Given the description of an element on the screen output the (x, y) to click on. 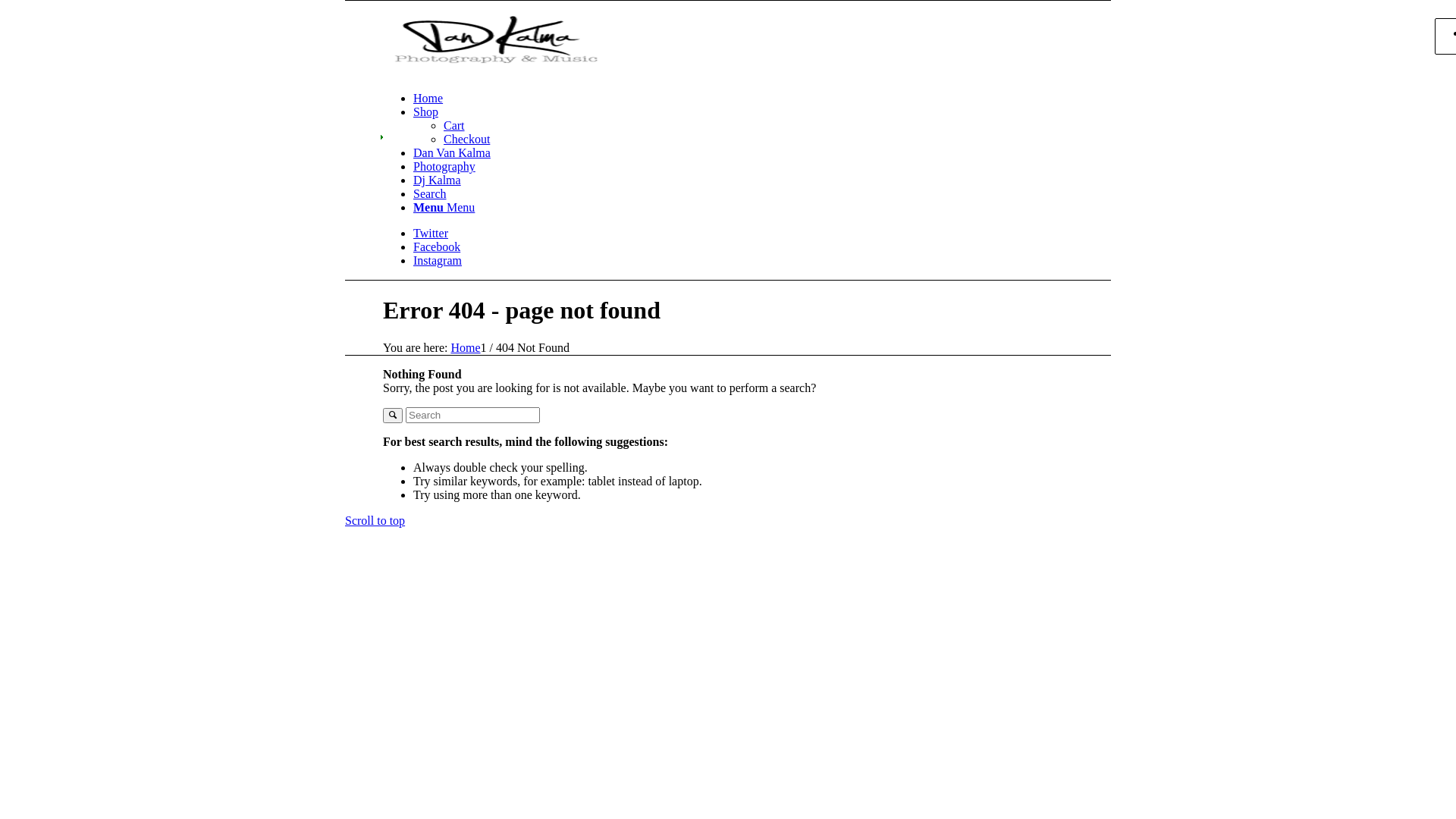
Facebook Element type: text (436, 246)
Cart Element type: text (453, 125)
Dan Van Kalma Element type: text (451, 152)
Dj Kalma Element type: text (437, 179)
Twitter Element type: text (430, 232)
Home Element type: text (465, 347)
Home Element type: text (427, 97)
Instagram Element type: text (437, 260)
Shop Element type: text (425, 111)
Photography Element type: text (444, 166)
Checkout Element type: text (466, 138)
Menu Menu Element type: text (443, 206)
DanKalma-SIg Element type: hover (496, 38)
Search Element type: text (429, 193)
Scroll to top Element type: text (374, 520)
